Given the description of an element on the screen output the (x, y) to click on. 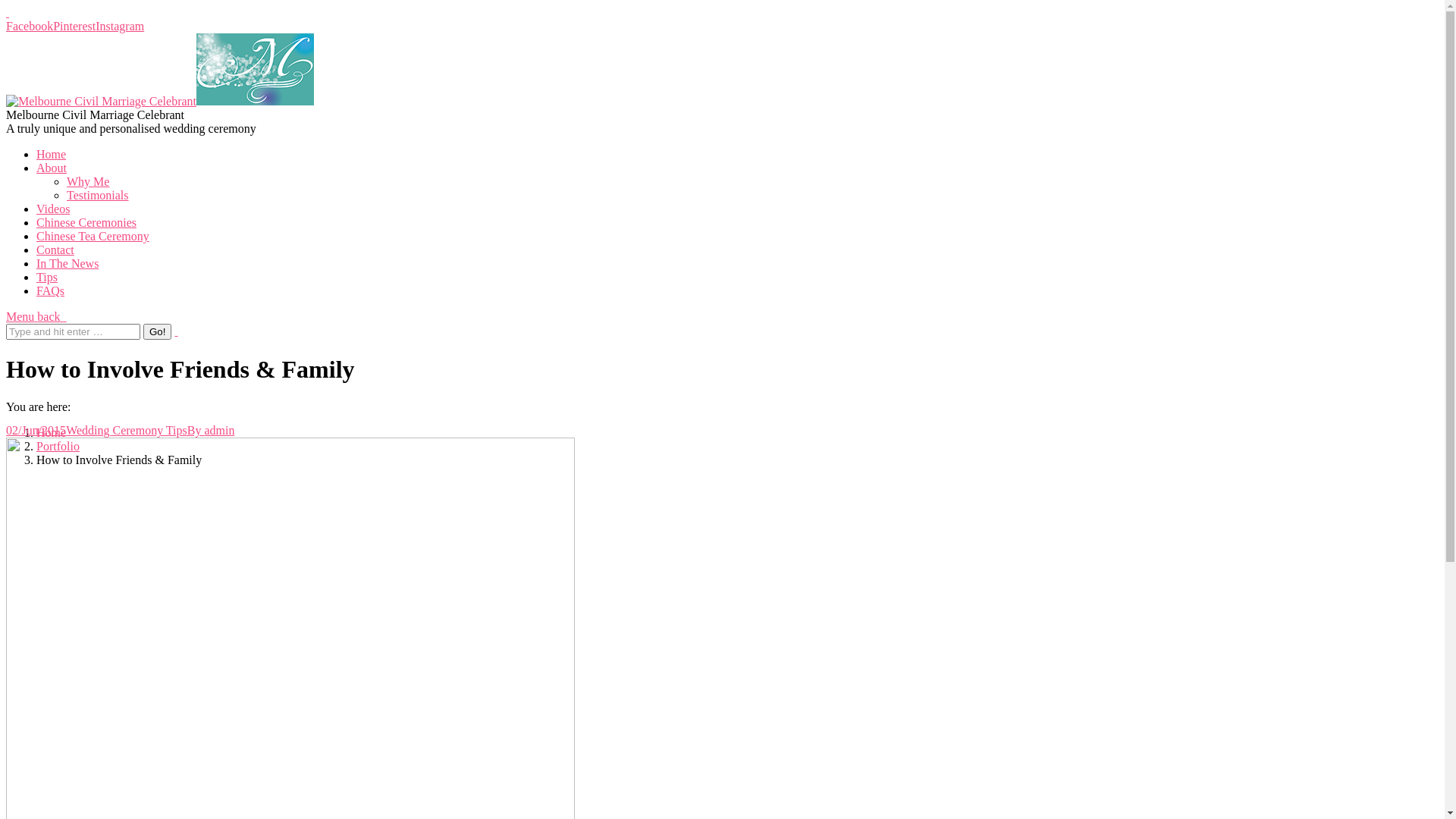
About Element type: text (51, 167)
Home Element type: text (50, 432)
Wedding Ceremony Tips Element type: text (126, 429)
Videos Element type: text (52, 208)
FAQs Element type: text (50, 290)
Tips Element type: text (46, 276)
Chinese Ceremonies Element type: text (86, 222)
Chinese Tea Ceremony Element type: text (92, 235)
Menu back   Element type: text (36, 316)
Pinterest Element type: text (74, 25)
Contact Element type: text (55, 249)
Portfolio Element type: text (57, 445)
Testimonials Element type: text (97, 194)
Go! Element type: text (157, 331)
Facebook Element type: text (29, 25)
  Element type: text (7, 12)
Home Element type: text (50, 153)
02/Jun/2015 Element type: text (35, 429)
By admin Element type: text (211, 429)
Instagram Element type: text (119, 25)
Why Me Element type: text (87, 181)
  Element type: text (175, 330)
In The News Element type: text (67, 263)
